Given the description of an element on the screen output the (x, y) to click on. 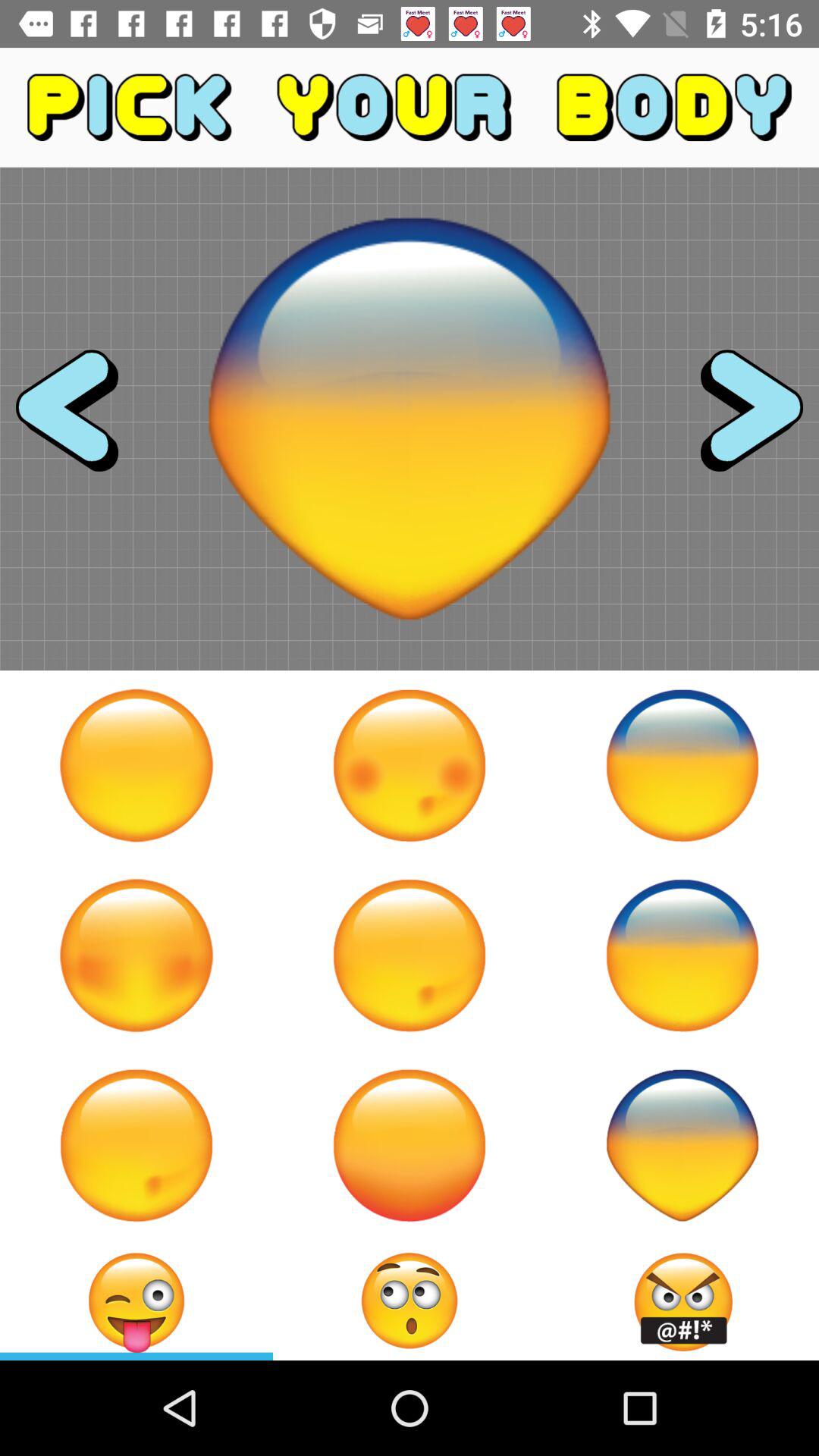
selects a face type for an emoji (682, 955)
